Given the description of an element on the screen output the (x, y) to click on. 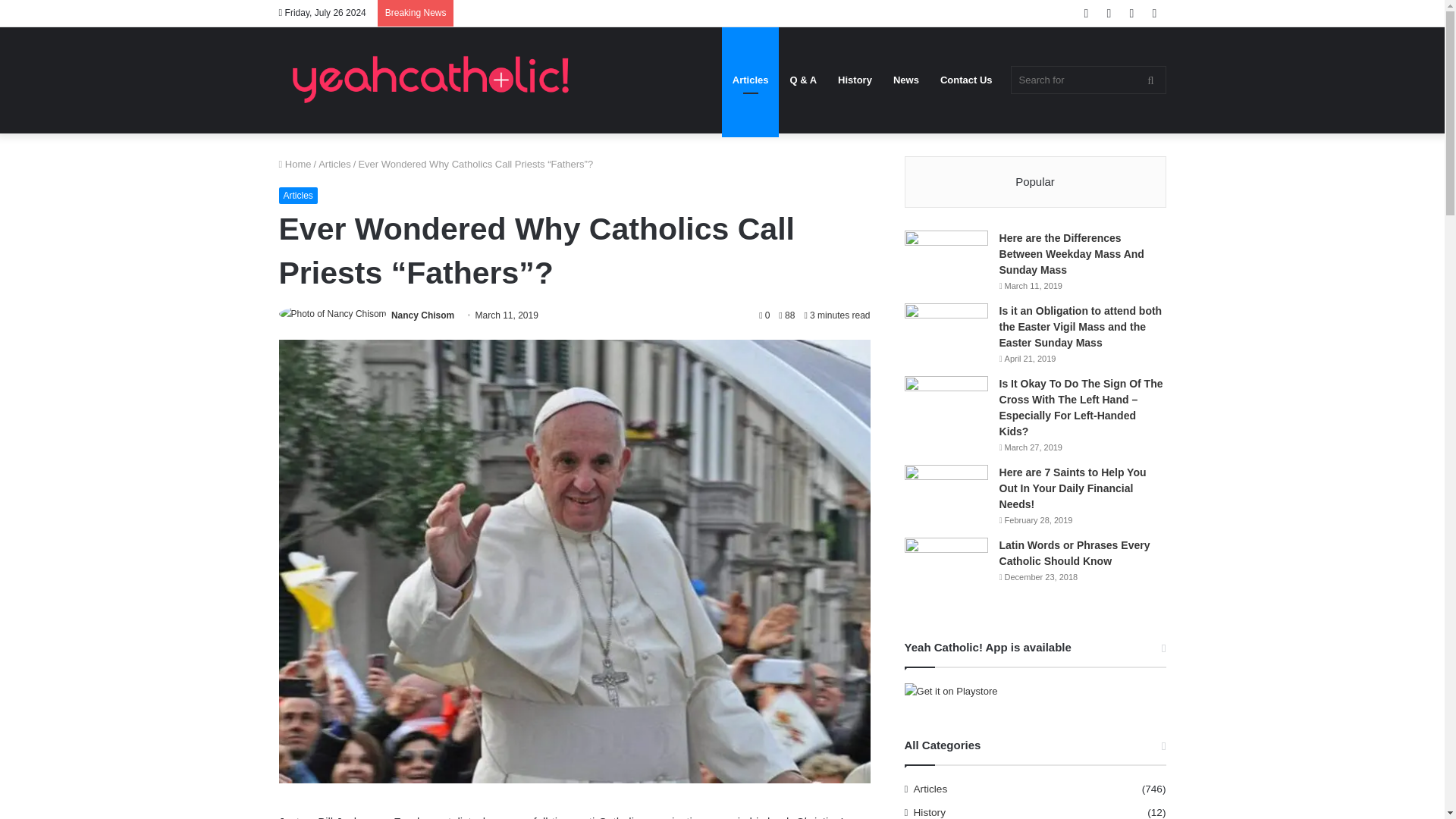
Search for (1150, 79)
Random Article (1109, 13)
News (906, 79)
Articles (334, 163)
Random Article (1109, 13)
History (854, 79)
Switch skin (1154, 13)
Home (295, 163)
Contact Us (966, 79)
Search for (1088, 80)
Nancy Chisom (422, 315)
Articles (750, 79)
Nancy Chisom (422, 315)
Switch skin (1154, 13)
Yeah Catholic (430, 79)
